Given the description of an element on the screen output the (x, y) to click on. 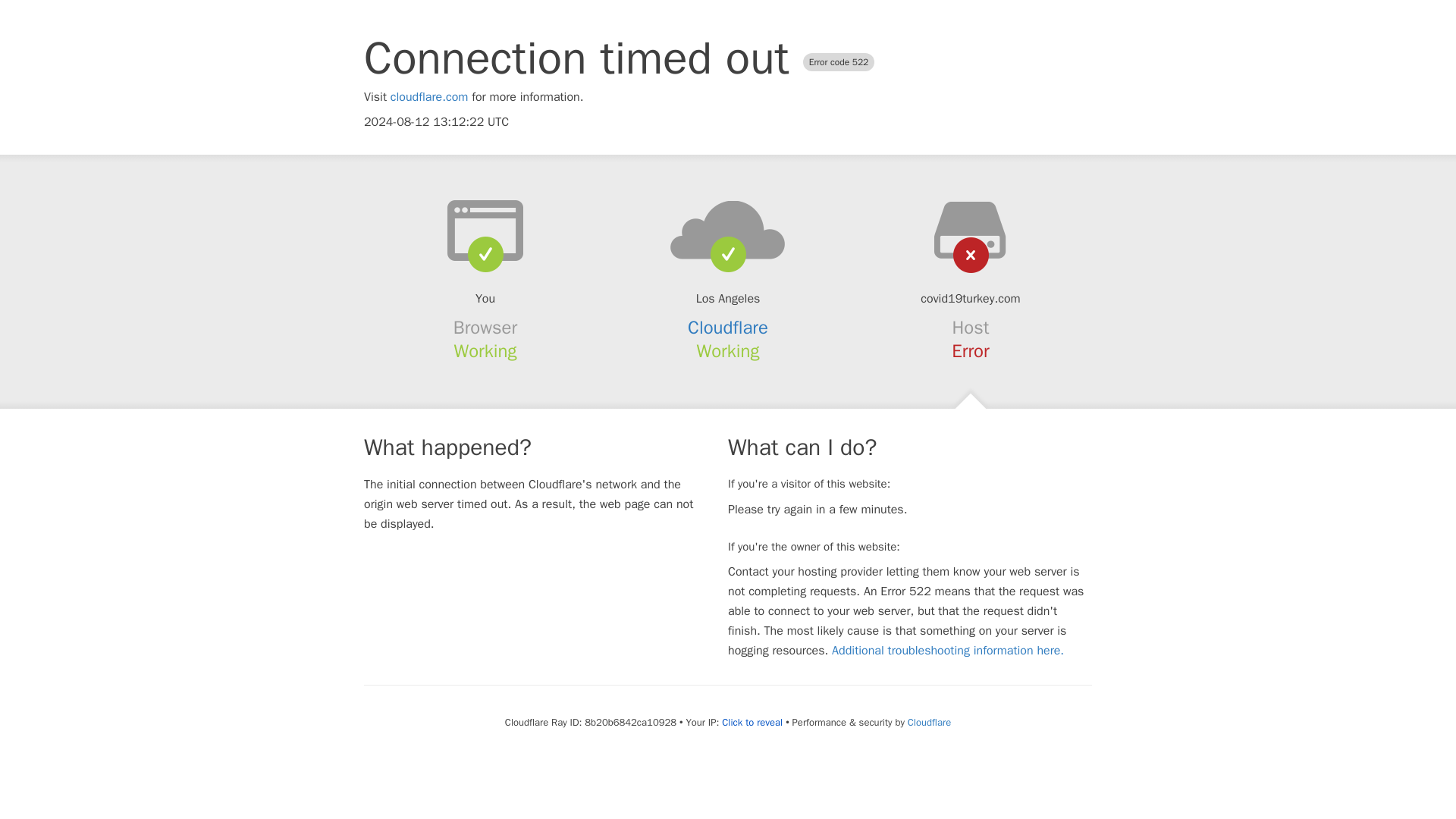
cloudflare.com (429, 96)
Cloudflare (727, 327)
Cloudflare (928, 721)
Click to reveal (752, 722)
Additional troubleshooting information here. (947, 650)
